Given the description of an element on the screen output the (x, y) to click on. 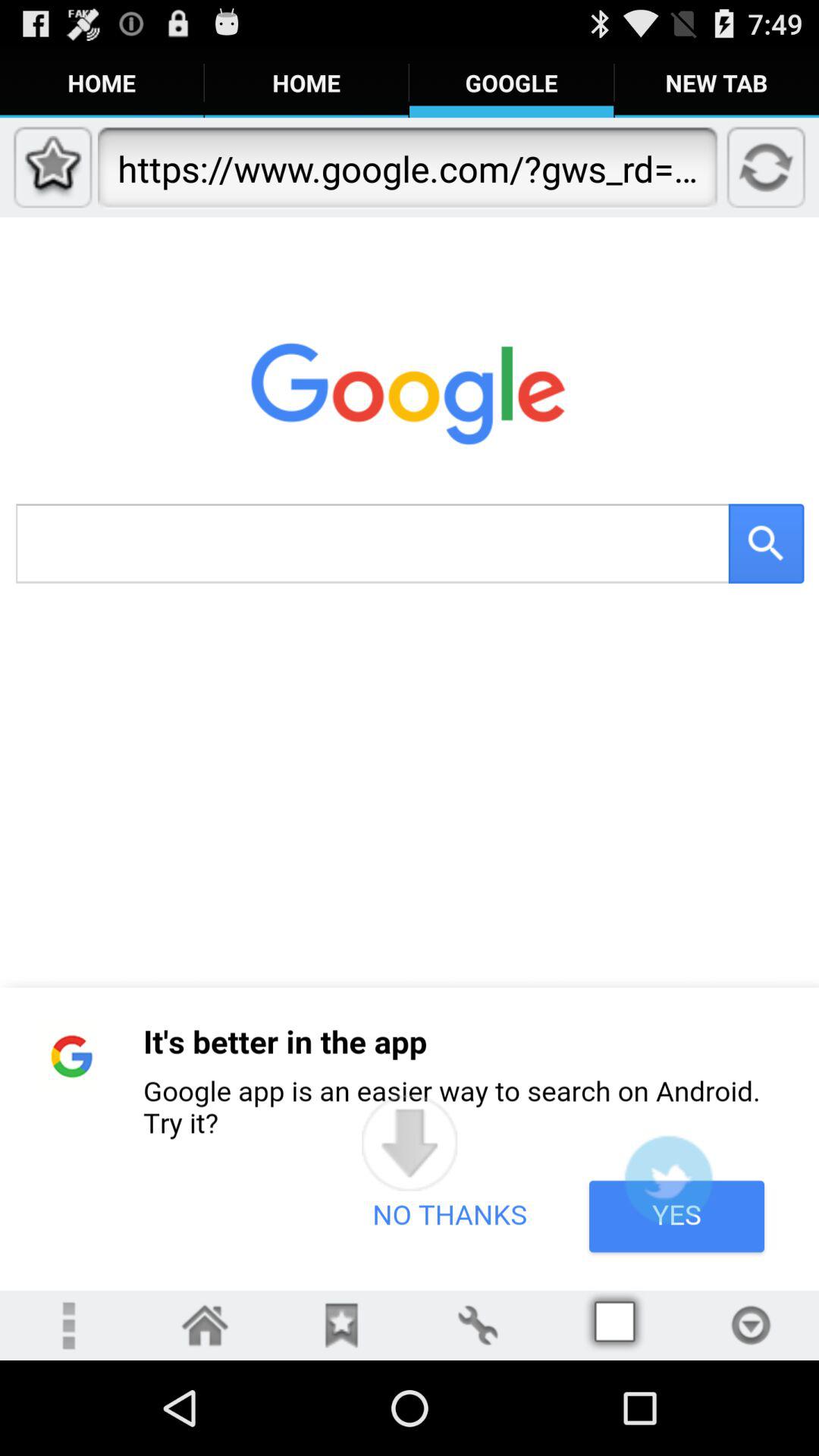
go to bookmarks (341, 1325)
